Given the description of an element on the screen output the (x, y) to click on. 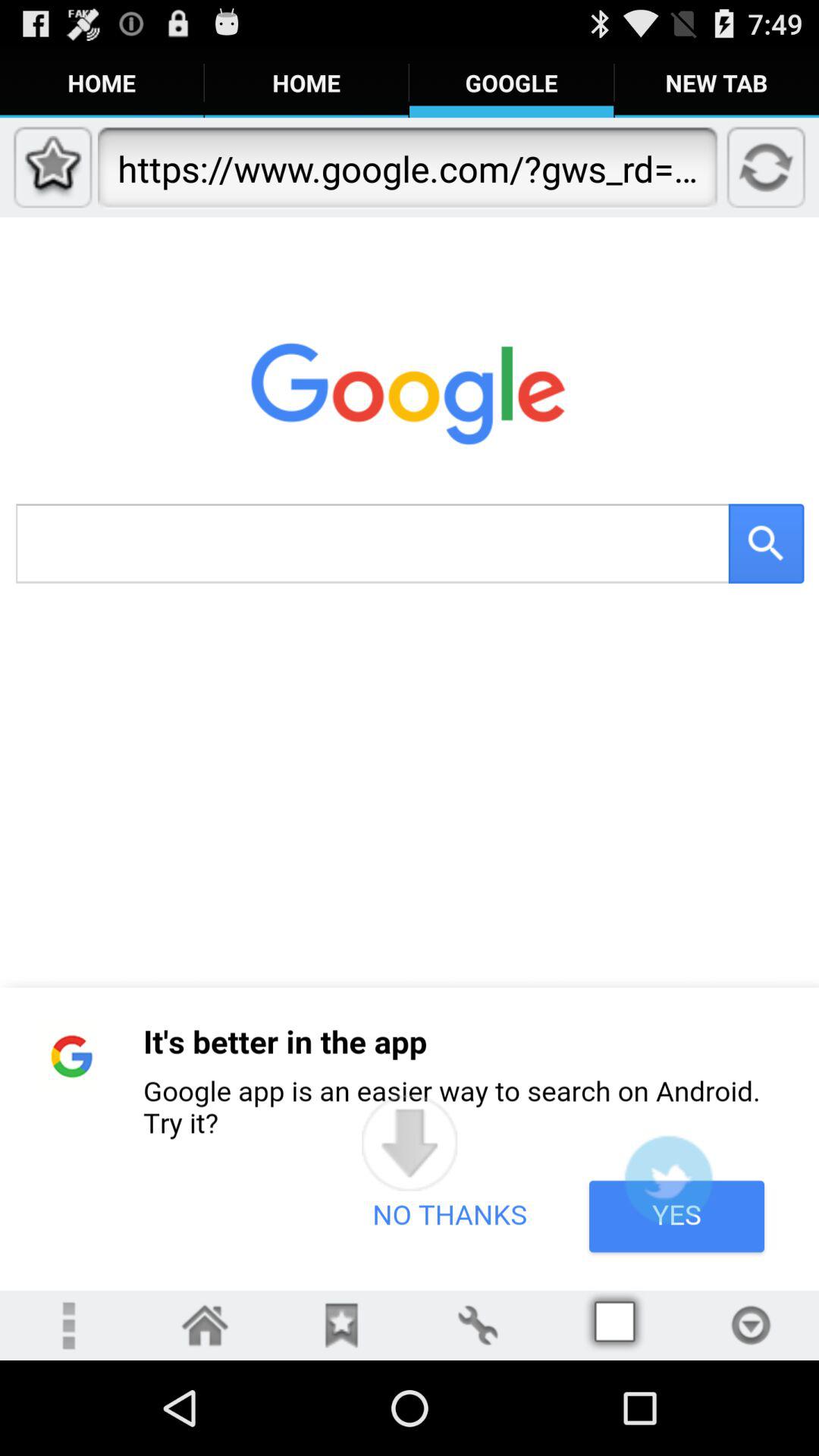
go to bookmarks (341, 1325)
